Given the description of an element on the screen output the (x, y) to click on. 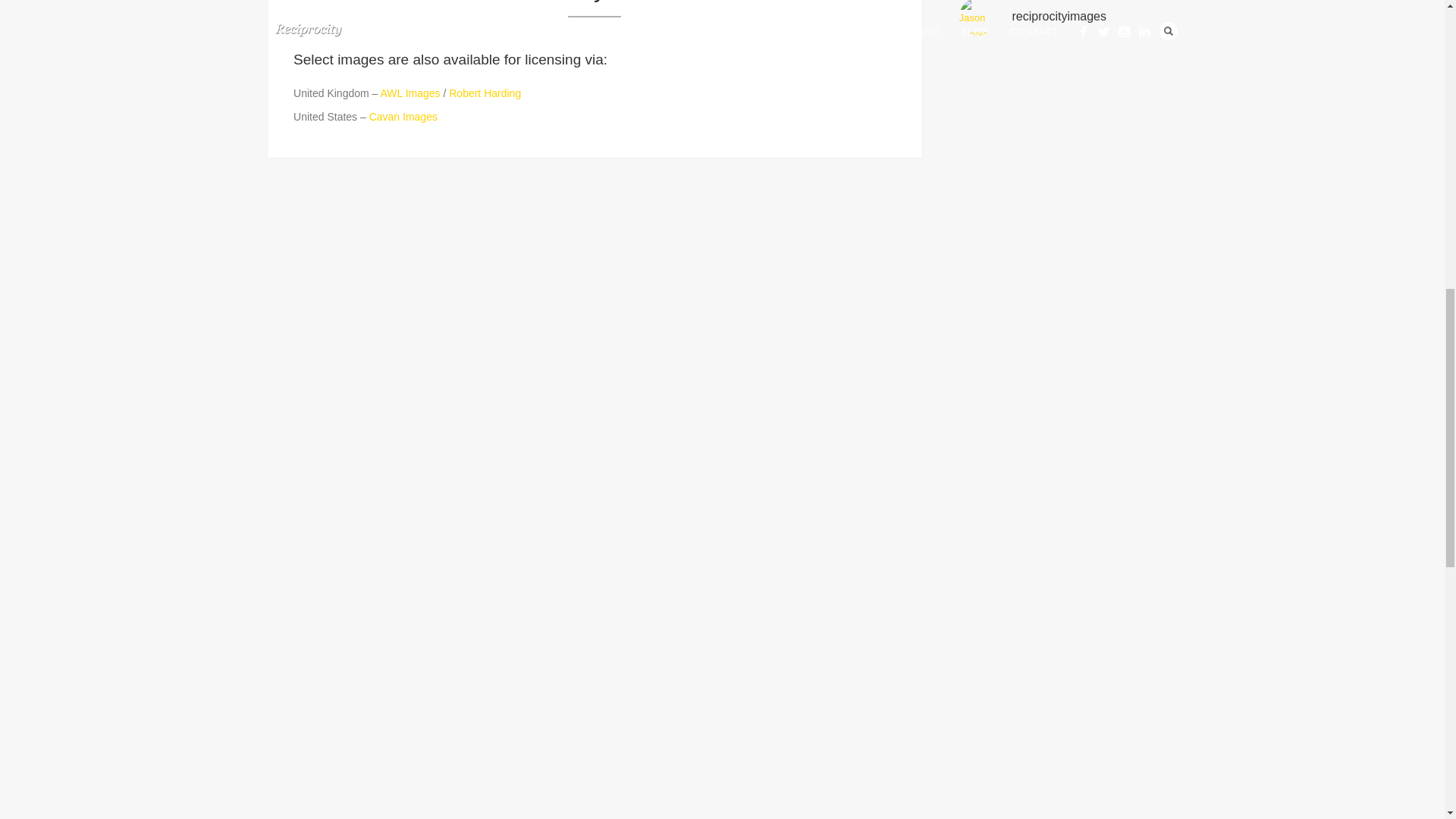
Cavan Images (403, 116)
reciprocityimages (1067, 18)
Robert Harding (484, 92)
AWL Images (409, 92)
